Given the description of an element on the screen output the (x, y) to click on. 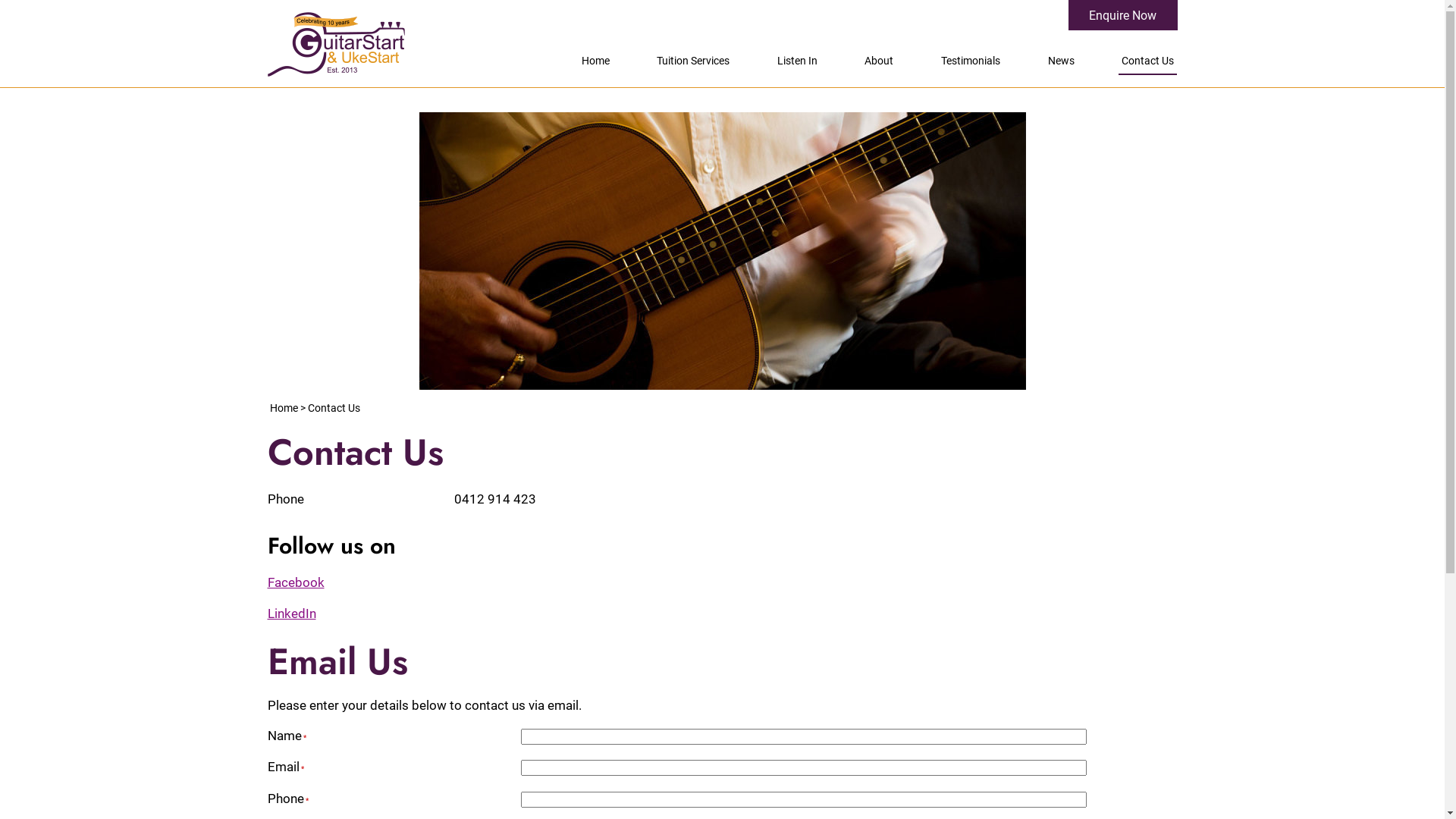
Contact Us Element type: text (1147, 61)
Listen In Element type: text (797, 61)
Testimonials Element type: text (970, 61)
LinkedIn Element type: text (290, 613)
Contact Us Element type: text (333, 407)
Enquire Now Element type: text (1121, 15)
News Element type: text (1060, 61)
Facebook Element type: text (294, 581)
Home Element type: text (283, 407)
About Element type: text (878, 61)
Home Element type: text (594, 61)
Tuition Services Element type: text (692, 61)
